Given the description of an element on the screen output the (x, y) to click on. 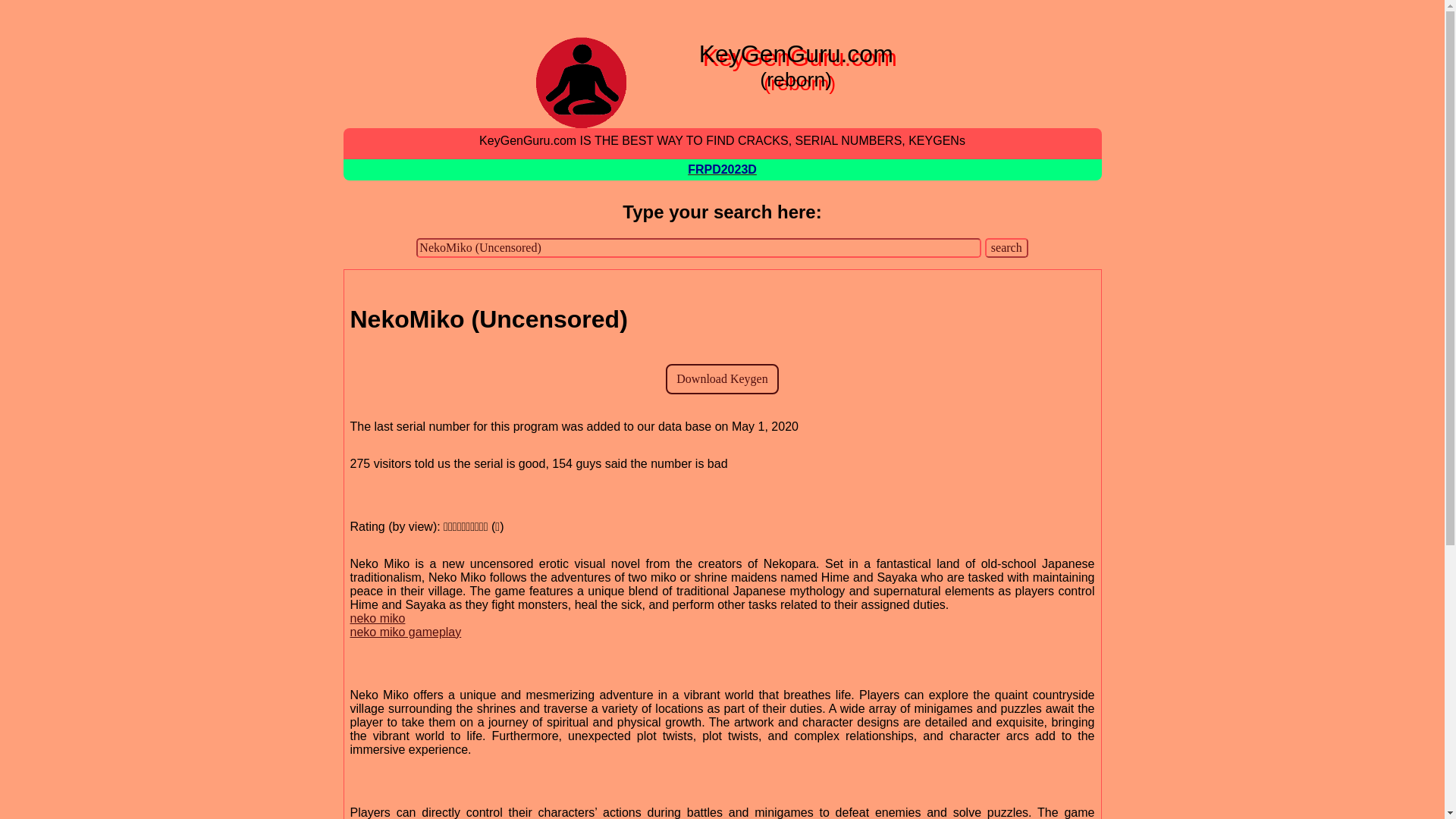
FRPD2023D (722, 174)
Download Keygen (721, 378)
neko miko gameplay (405, 637)
search (1006, 247)
Download Keygen (721, 378)
neko miko (378, 623)
search (1006, 247)
